Given the description of an element on the screen output the (x, y) to click on. 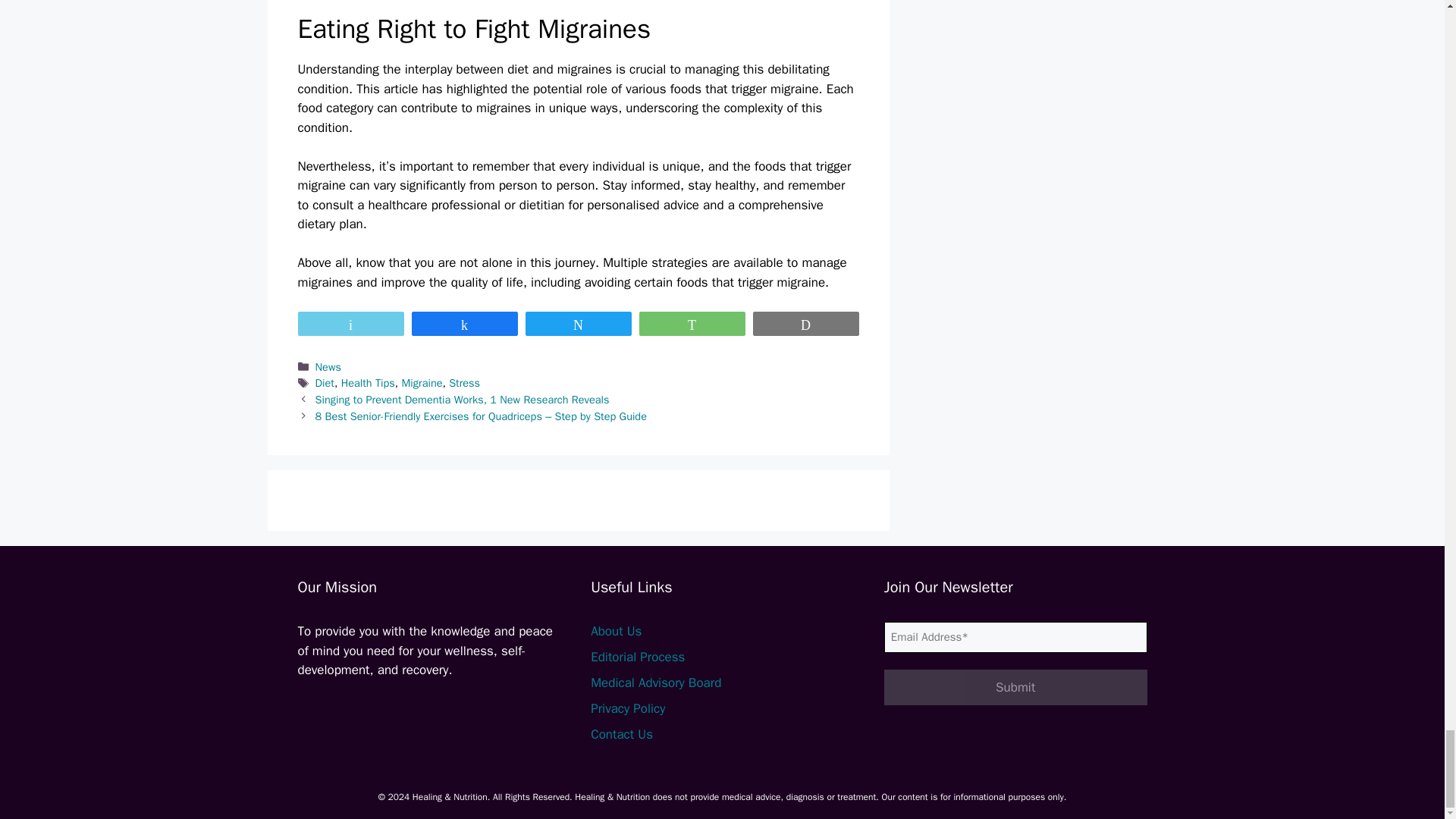
Submit (1015, 687)
